Given the description of an element on the screen output the (x, y) to click on. 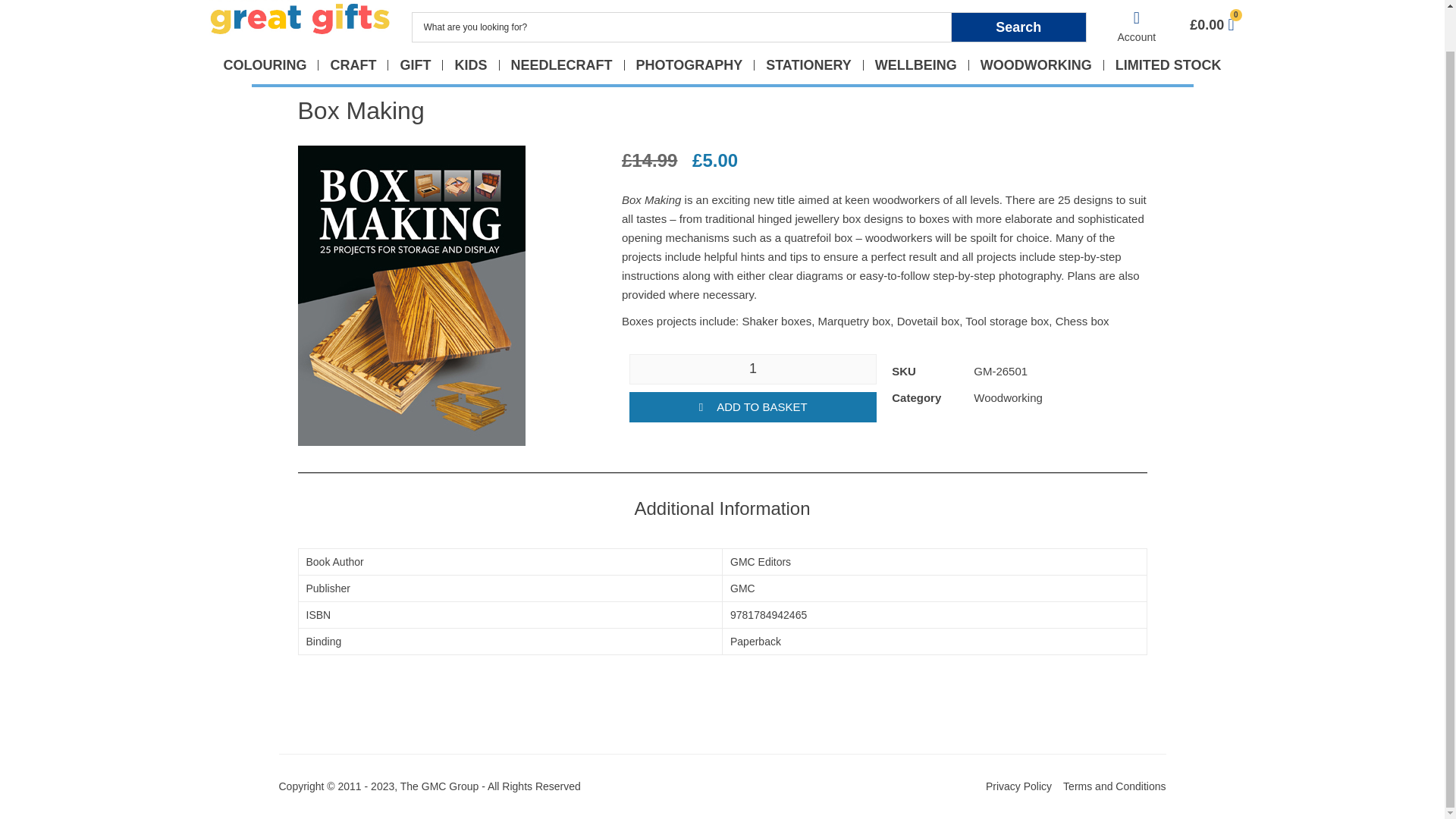
KIDS (470, 64)
WELLBEING (915, 64)
CRAFT (352, 64)
1 (752, 368)
PHOTOGRAPHY (688, 64)
Account (1137, 37)
Terms and Conditions (1114, 786)
GIFT (414, 64)
NEEDLECRAFT (561, 64)
LIMITED STOCK (1168, 64)
